Given the description of an element on the screen output the (x, y) to click on. 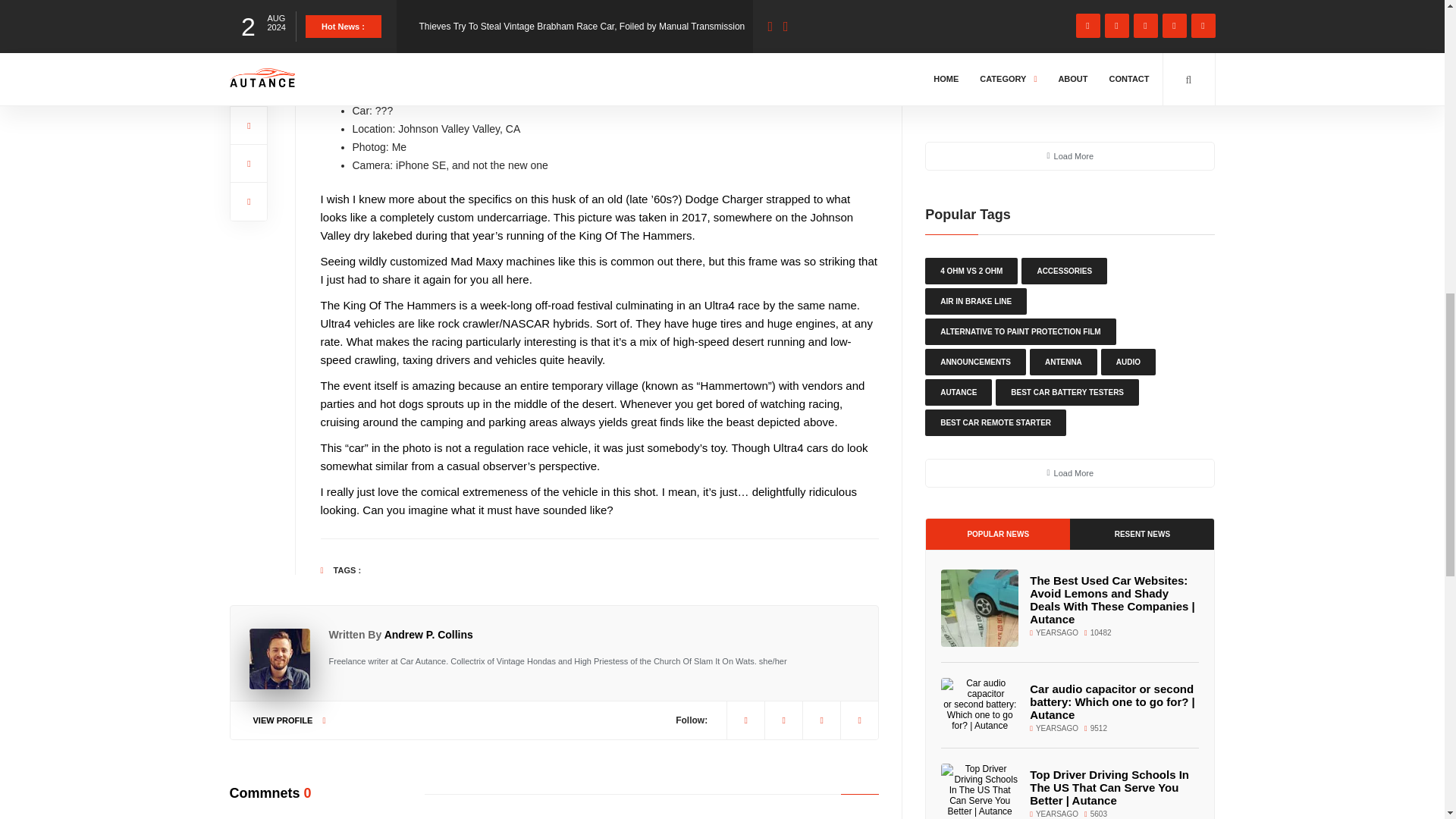
Andrew P. Collins (428, 634)
VIEW PROFILE (289, 720)
PRINT (802, 4)
